Given the description of an element on the screen output the (x, y) to click on. 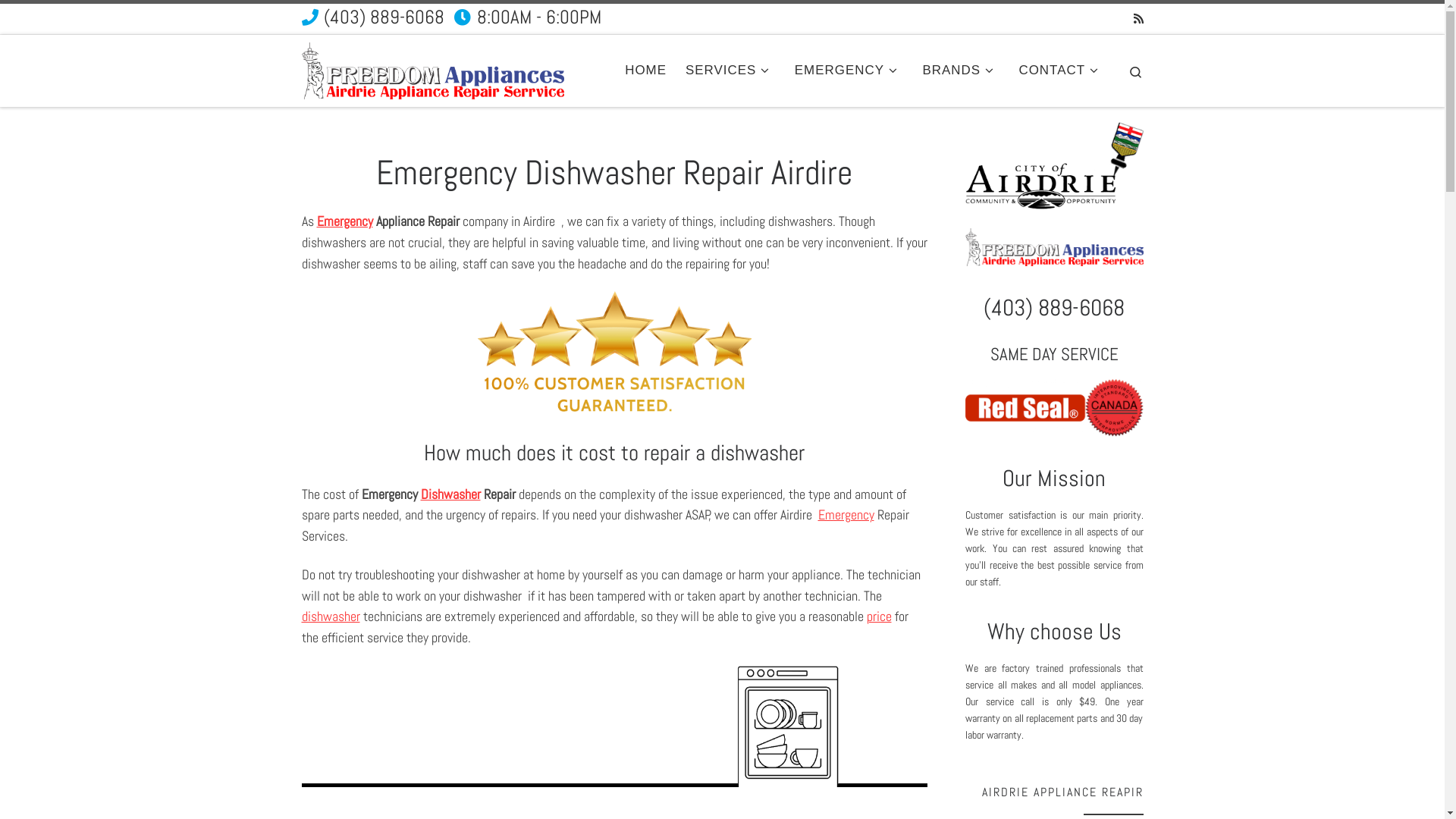
price Element type: text (878, 615)
BRANDS Element type: text (960, 70)
Skip to content Element type: text (53, 21)
(403) 889-6068 Element type: text (373, 18)
dishwasher Element type: text (330, 615)
Emergency Element type: text (344, 220)
Emergency Element type: text (845, 514)
CONTACT Element type: text (1061, 70)
Dishwasher Element type: text (450, 493)
EMERGENCY Element type: text (849, 70)
Subscribe to my rss feed Element type: hover (1137, 18)
Search Element type: text (1135, 70)
SERVICES Element type: text (730, 70)
HOME Element type: text (645, 70)
